Given the description of an element on the screen output the (x, y) to click on. 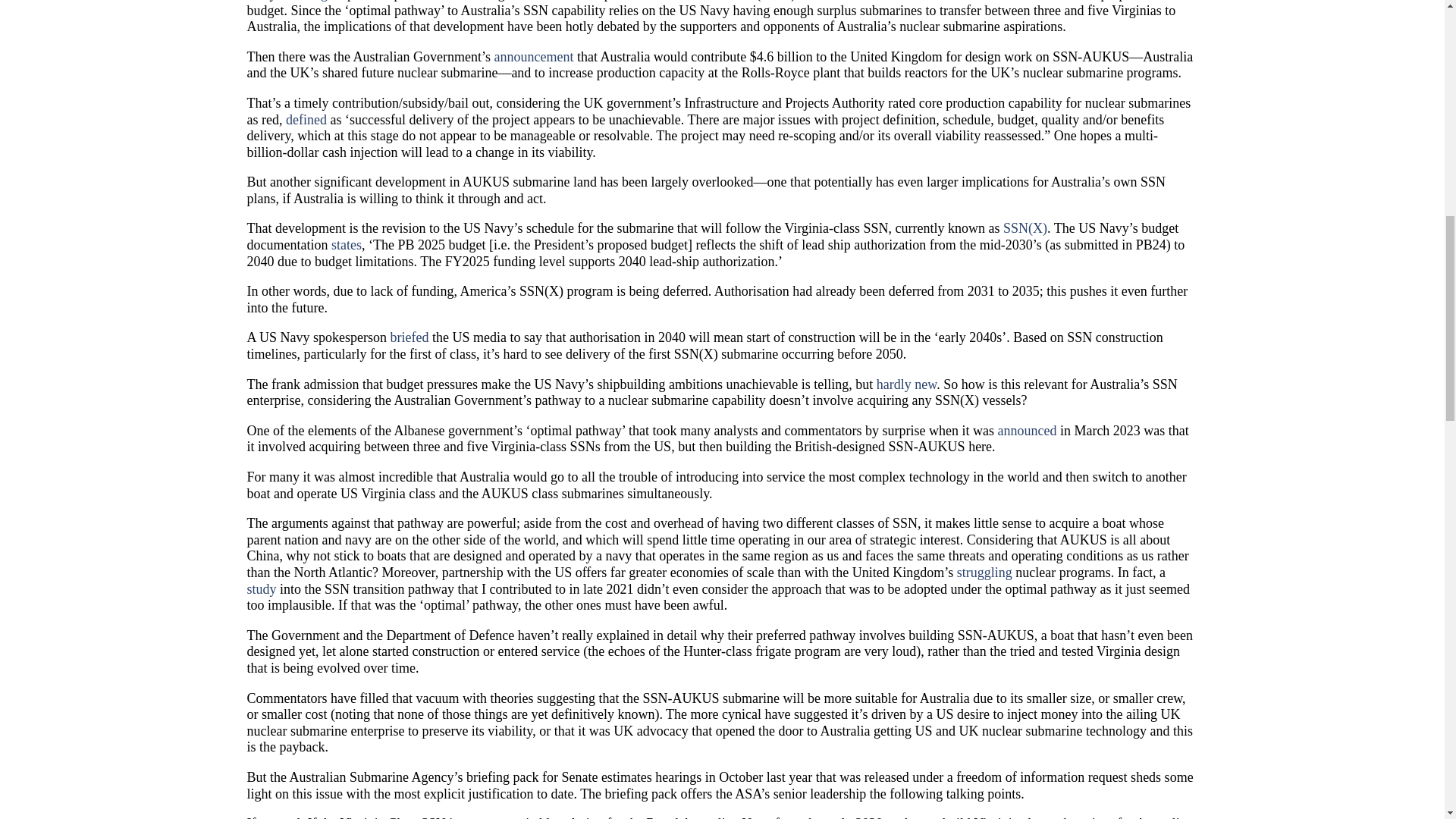
defined (305, 119)
announcement (533, 56)
study (261, 589)
struggling (983, 572)
reducing (303, 0)
announced (1027, 430)
hardly new (906, 384)
states (346, 244)
briefed (409, 337)
